Given the description of an element on the screen output the (x, y) to click on. 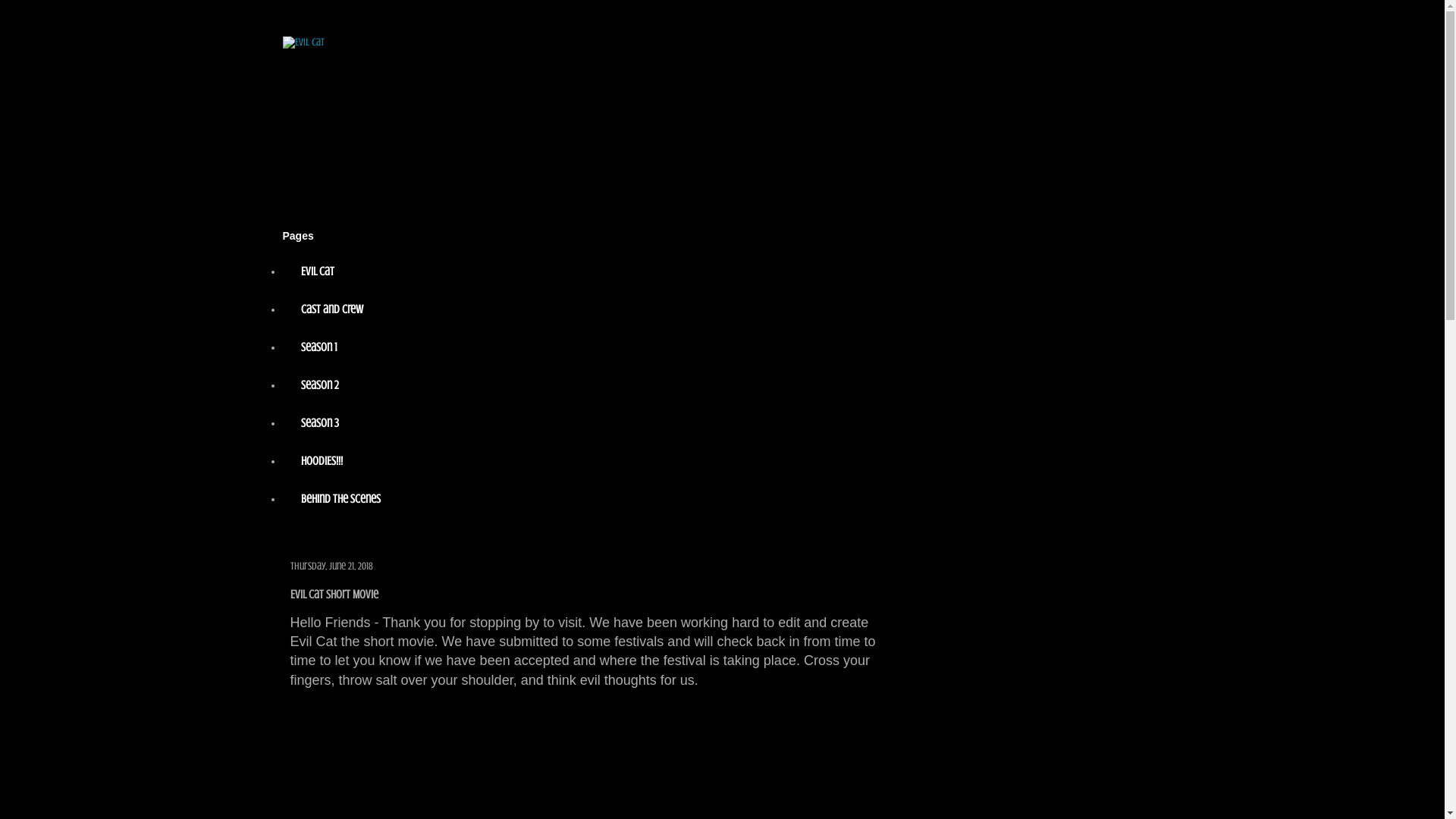
Season 2 Element type: text (319, 385)
Season 1 Element type: text (318, 347)
Behind the Scenes Element type: text (340, 498)
Season 3 Element type: text (319, 423)
HOODIES!!! Element type: text (321, 461)
Evil Cat Element type: text (316, 271)
Cast and Crew Element type: text (331, 309)
